Given the description of an element on the screen output the (x, y) to click on. 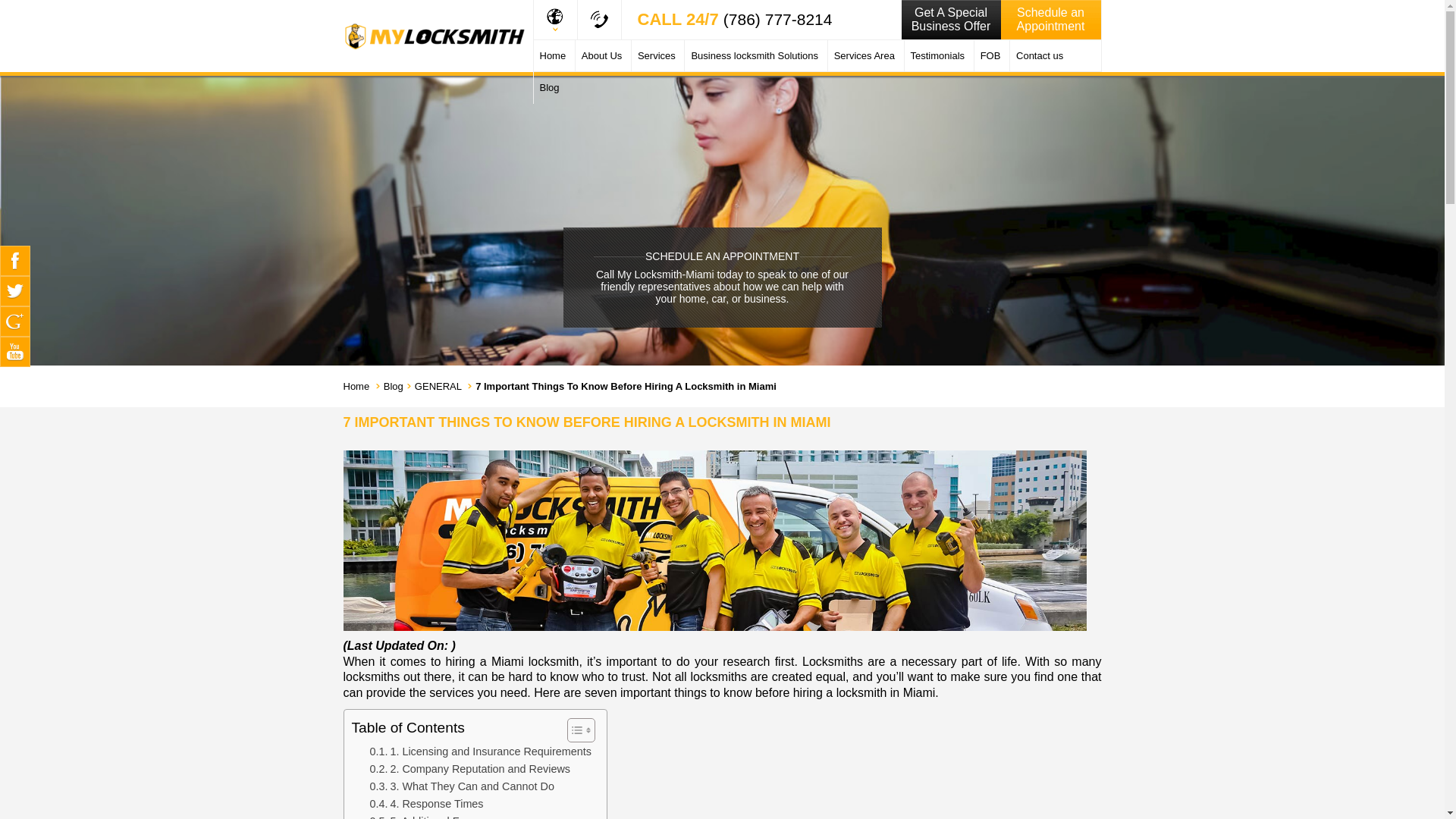
About Us (601, 56)
Business locksmith Solutions (754, 56)
Services Area (864, 56)
4. Response Times (426, 804)
Home (553, 56)
Services (656, 56)
1. Licensing and Insurance Requirements (480, 751)
2. Company Reputation and Reviews (469, 769)
5. Additional Fees (423, 816)
Contact us (1039, 56)
